Given the description of an element on the screen output the (x, y) to click on. 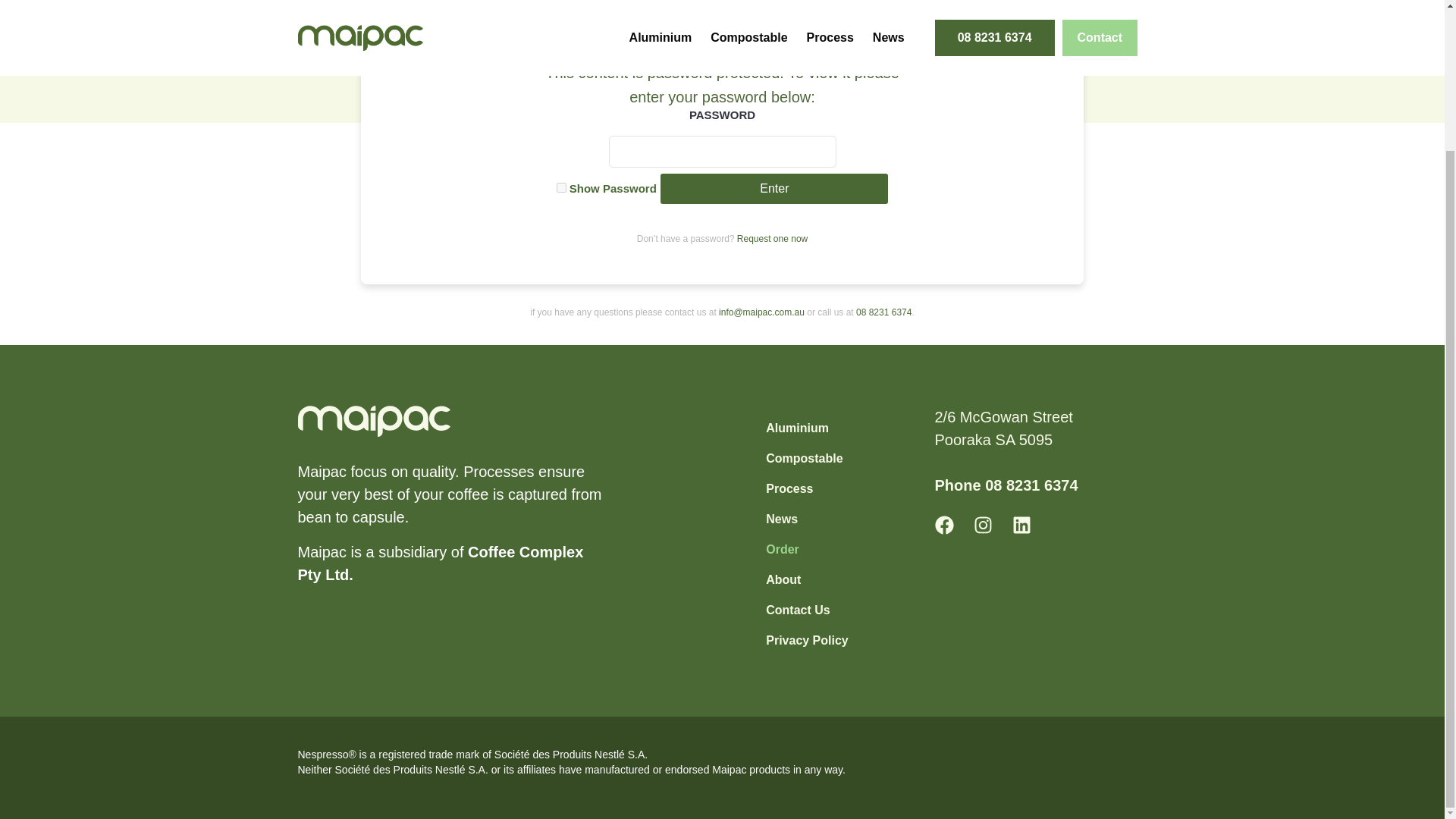
Compostable (807, 458)
on (561, 187)
Request one now (772, 238)
News (807, 519)
Privacy Policy (807, 640)
About (807, 580)
08 8231 6374 (1031, 484)
Coffee Complex Pty Ltd. (440, 563)
08 8231 6374 (883, 312)
Aluminium (807, 428)
Process (807, 489)
Order (807, 549)
Enter (774, 188)
Contact Us (807, 610)
